Given the description of an element on the screen output the (x, y) to click on. 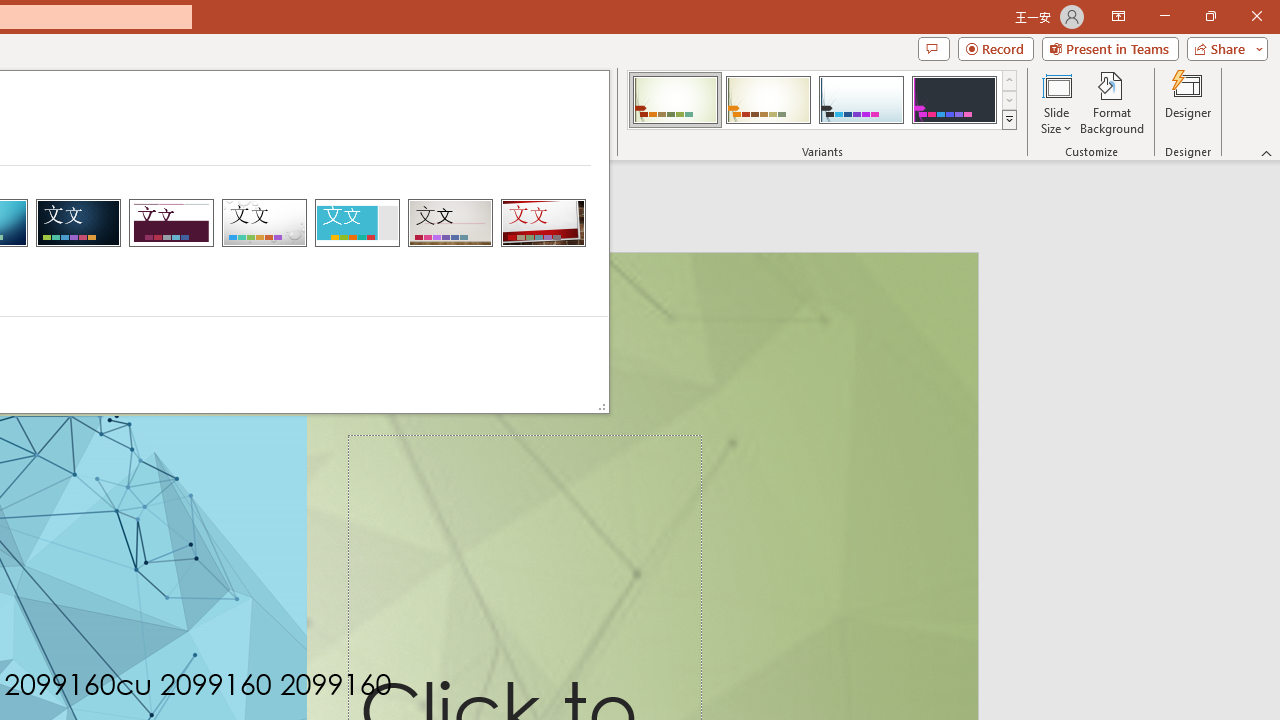
Row Down (1009, 100)
Format Background (1111, 102)
Wisp Variant 3 (861, 100)
